Given the description of an element on the screen output the (x, y) to click on. 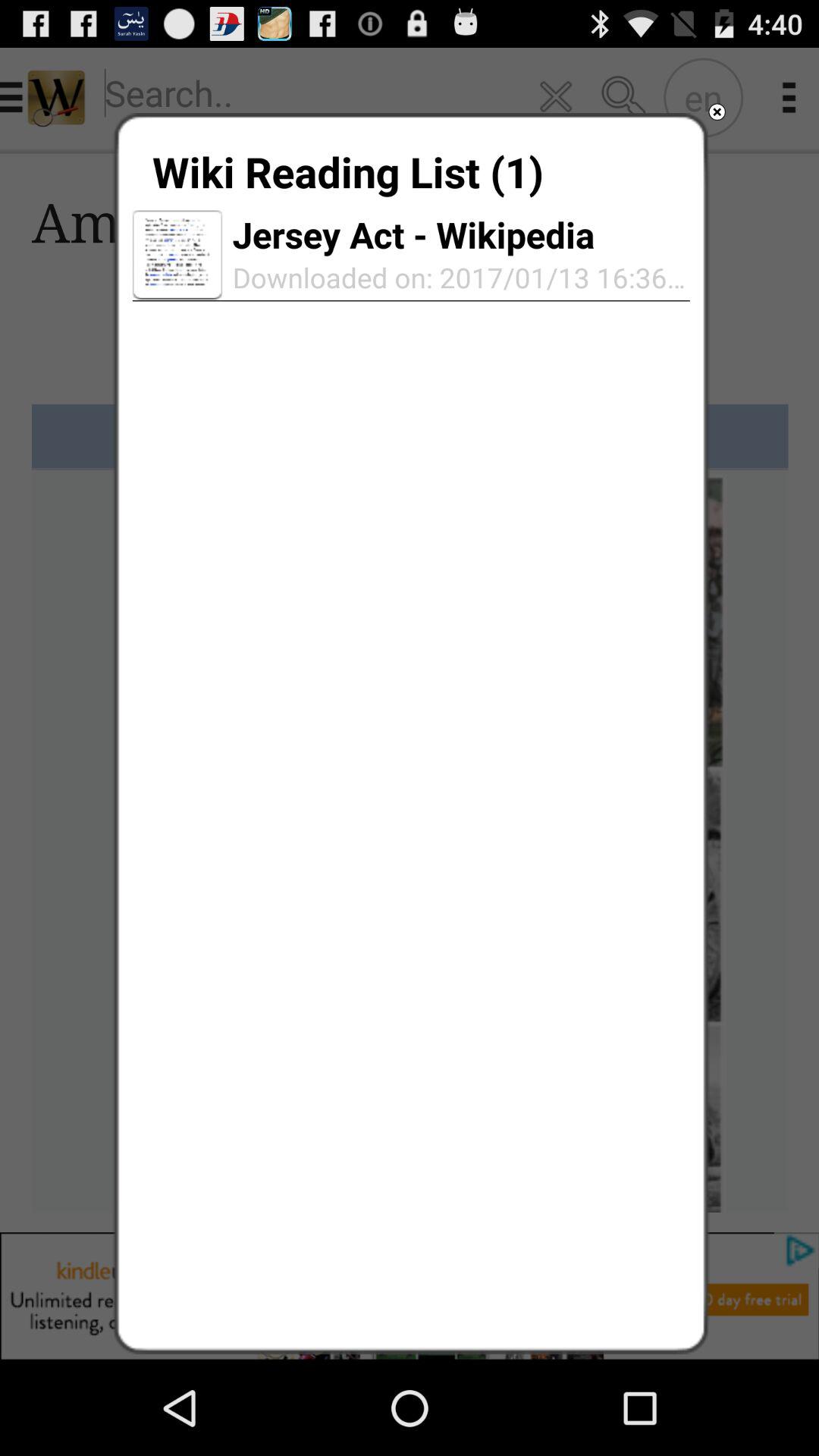
select the downloaded on 2017 item (455, 277)
